Given the description of an element on the screen output the (x, y) to click on. 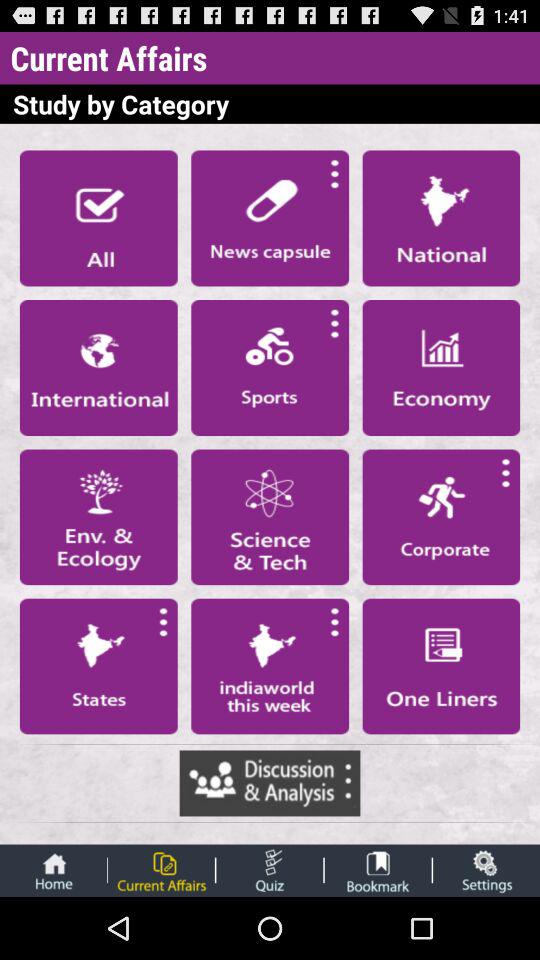
choose corporate (441, 517)
